Given the description of an element on the screen output the (x, y) to click on. 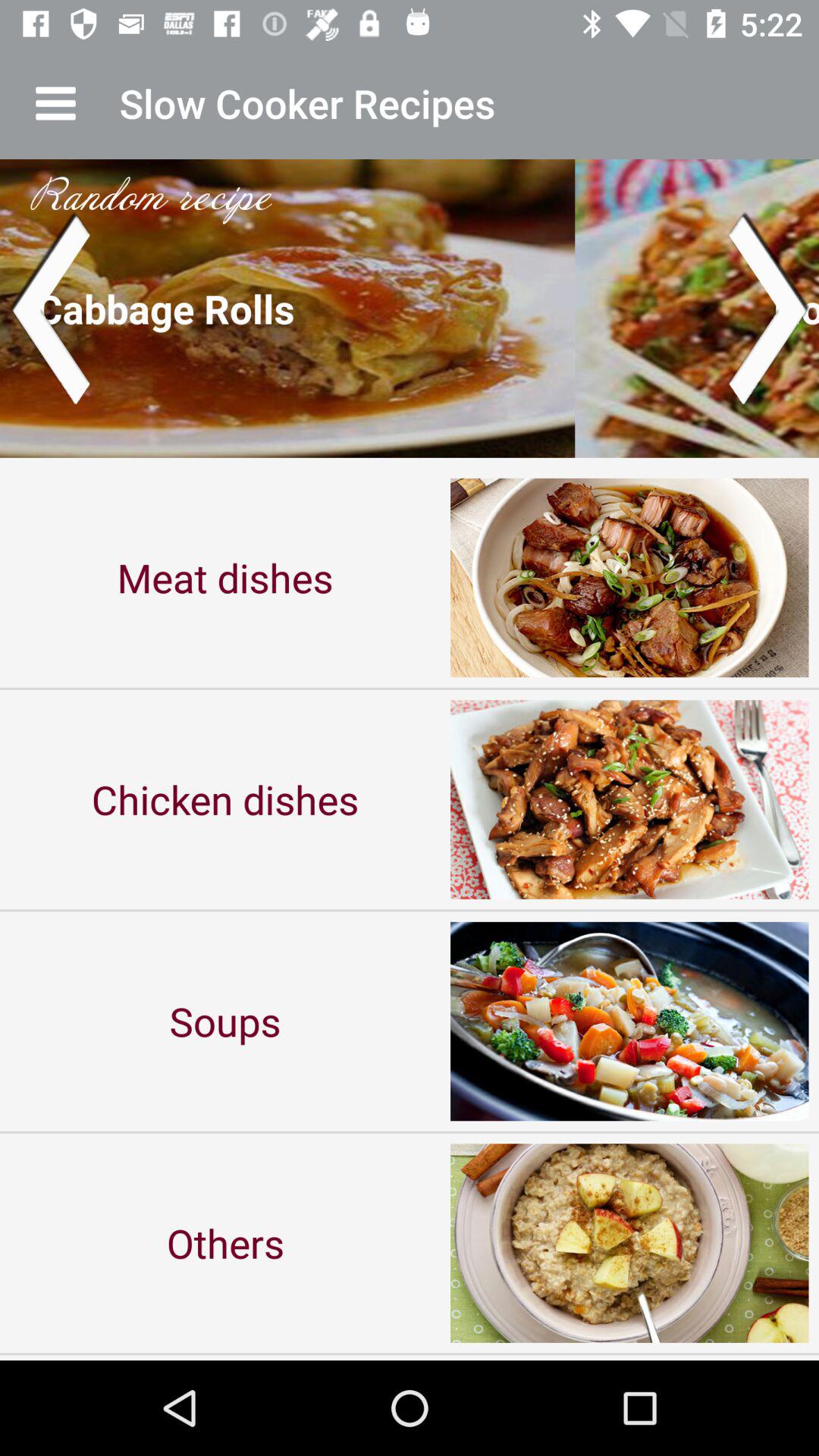
turn off the icon above the soups icon (225, 798)
